Given the description of an element on the screen output the (x, y) to click on. 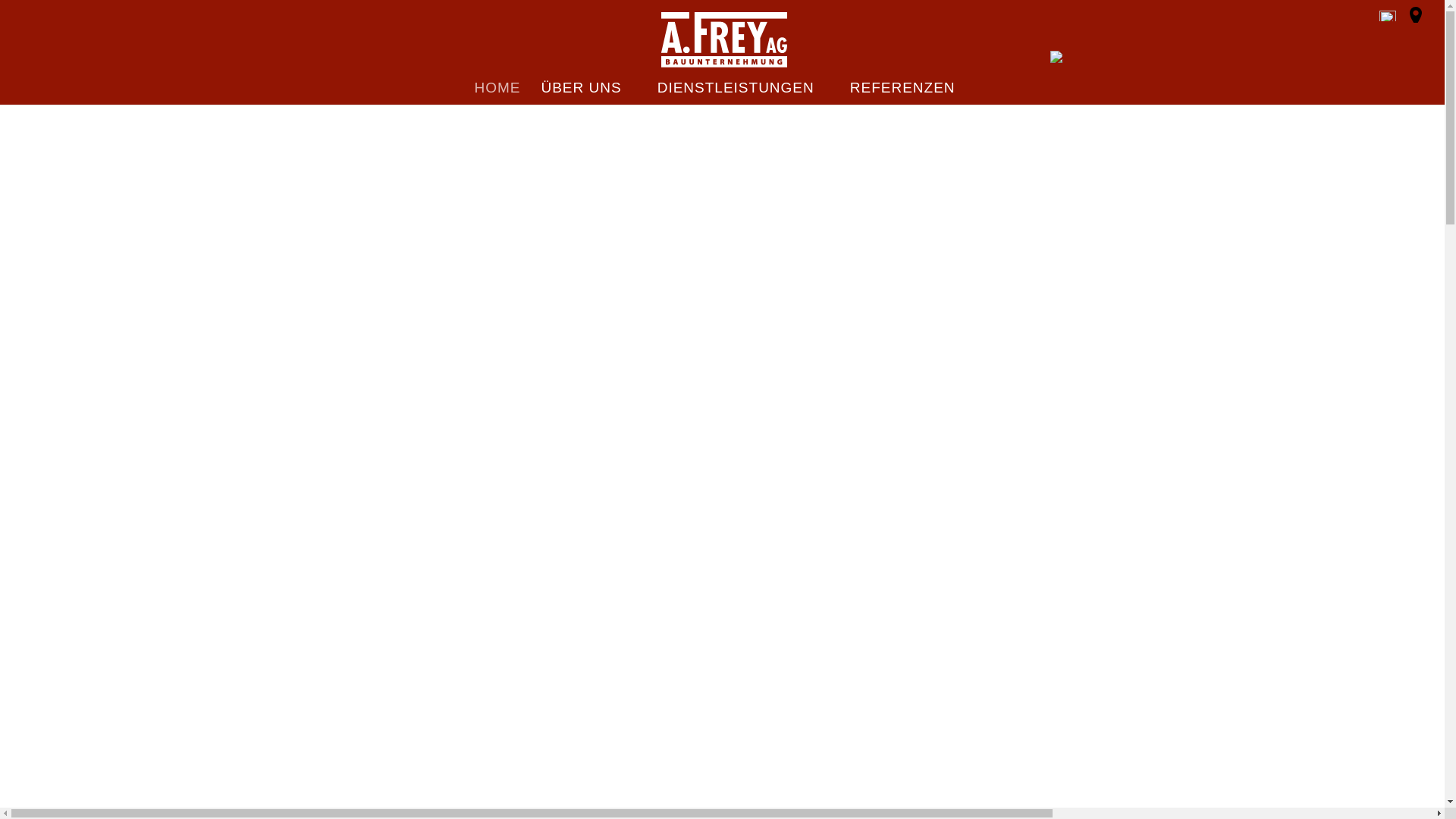
HOME Element type: text (496, 93)
Mail Element type: text (1387, 19)
REFERENZEN Element type: text (910, 93)
DIENSTLEISTUNGEN Element type: text (743, 93)
Kontakt Element type: text (1415, 19)
